Given the description of an element on the screen output the (x, y) to click on. 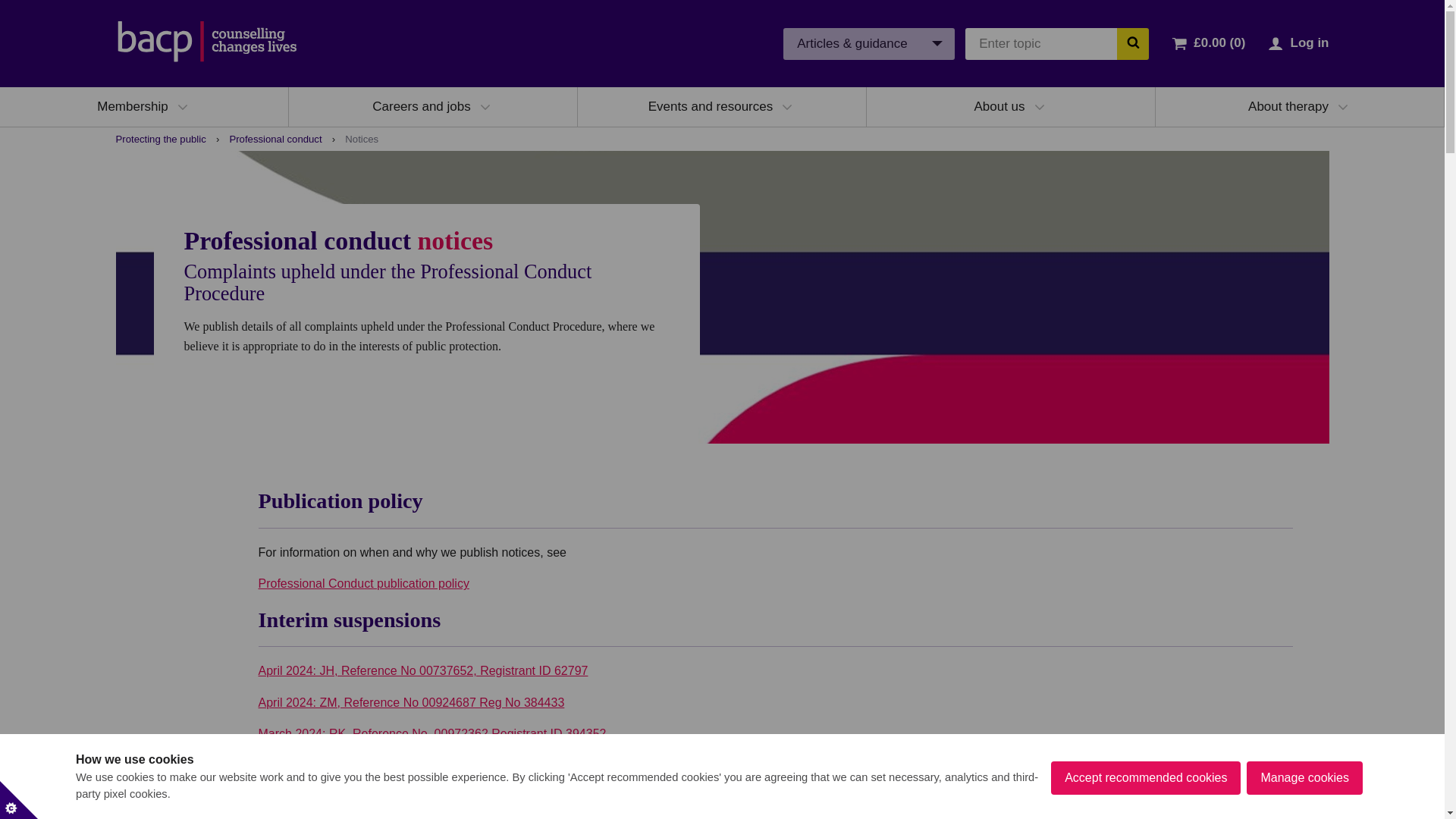
Manage cookies (1304, 807)
Professional conduct publication policy (362, 583)
March 2024: RK, Reference No, 00972362 Registrant ID 394352 (431, 733)
Careers and jobs (421, 106)
Membership (132, 106)
April 2024: ZM, Reference No 00924687 Reg No 384433 (410, 702)
Search the BACP website (1132, 42)
Log in (1309, 42)
Accept recommended cookies (1145, 815)
April 2024: JH, Reference No 00737652, Registrant ID 62797 (422, 670)
Events and resources (710, 106)
